Given the description of an element on the screen output the (x, y) to click on. 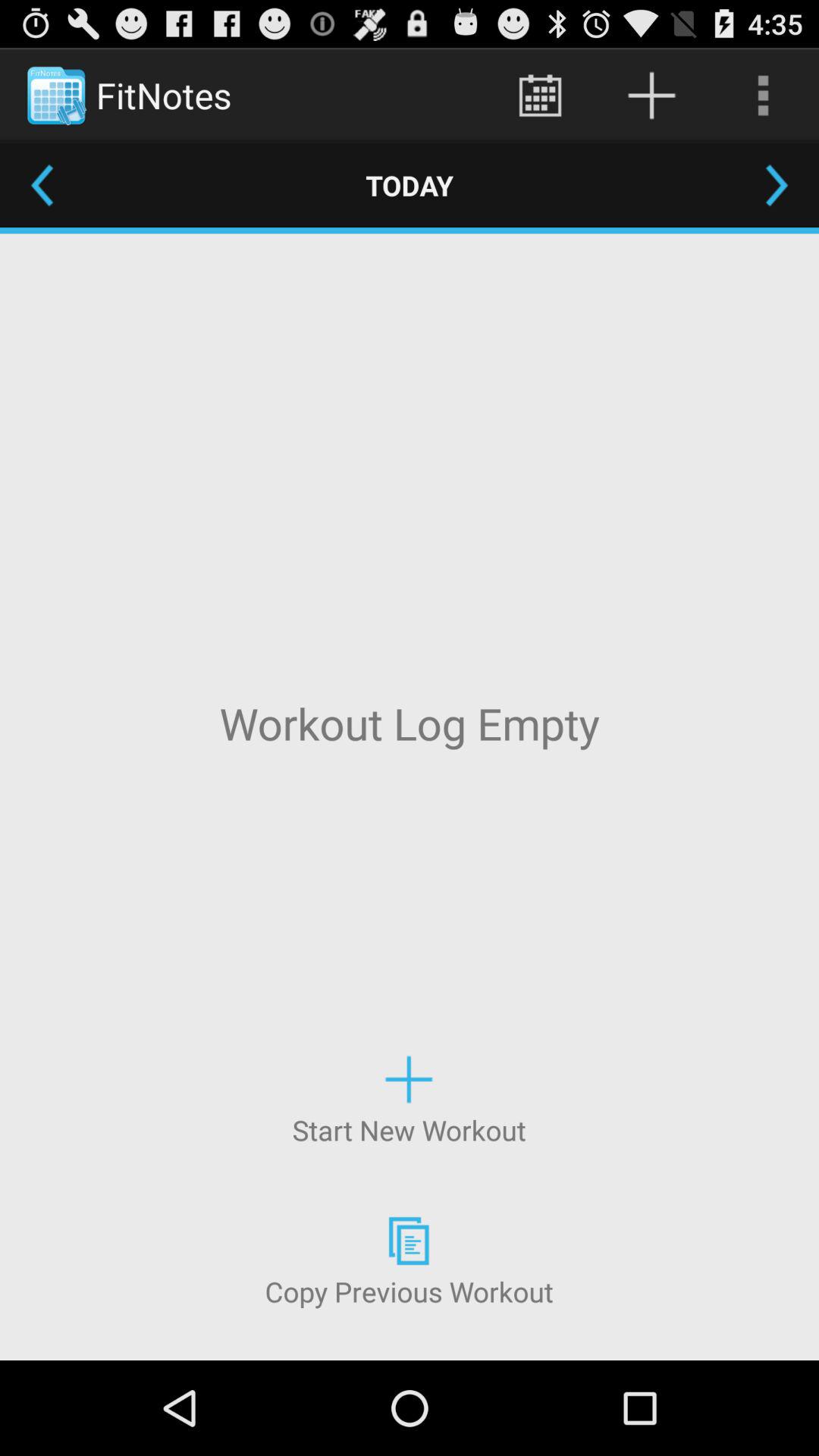
click the item above the copy previous workout app (409, 1098)
